Given the description of an element on the screen output the (x, y) to click on. 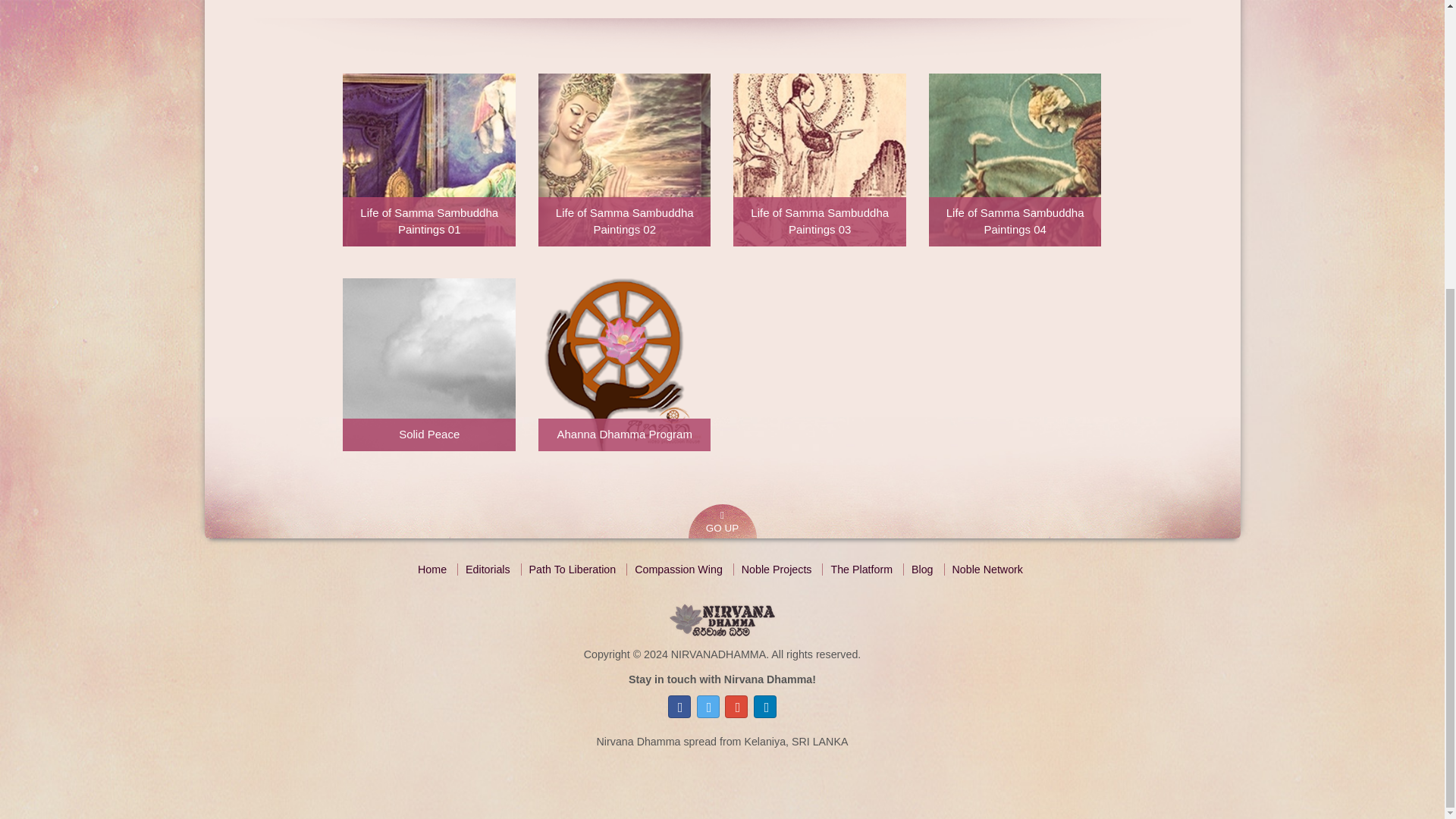
Life of Samma Sambuddha Paintings 03 (819, 159)
Life of Samma Sambuddha Paintings 01 (428, 159)
Life of Samma Sambuddha Paintings 02 (624, 159)
Life of Samma Sambuddha Paintings 04 (1014, 159)
Solid Peace (428, 364)
Ahanna Dhamma Program (624, 364)
